Given the description of an element on the screen output the (x, y) to click on. 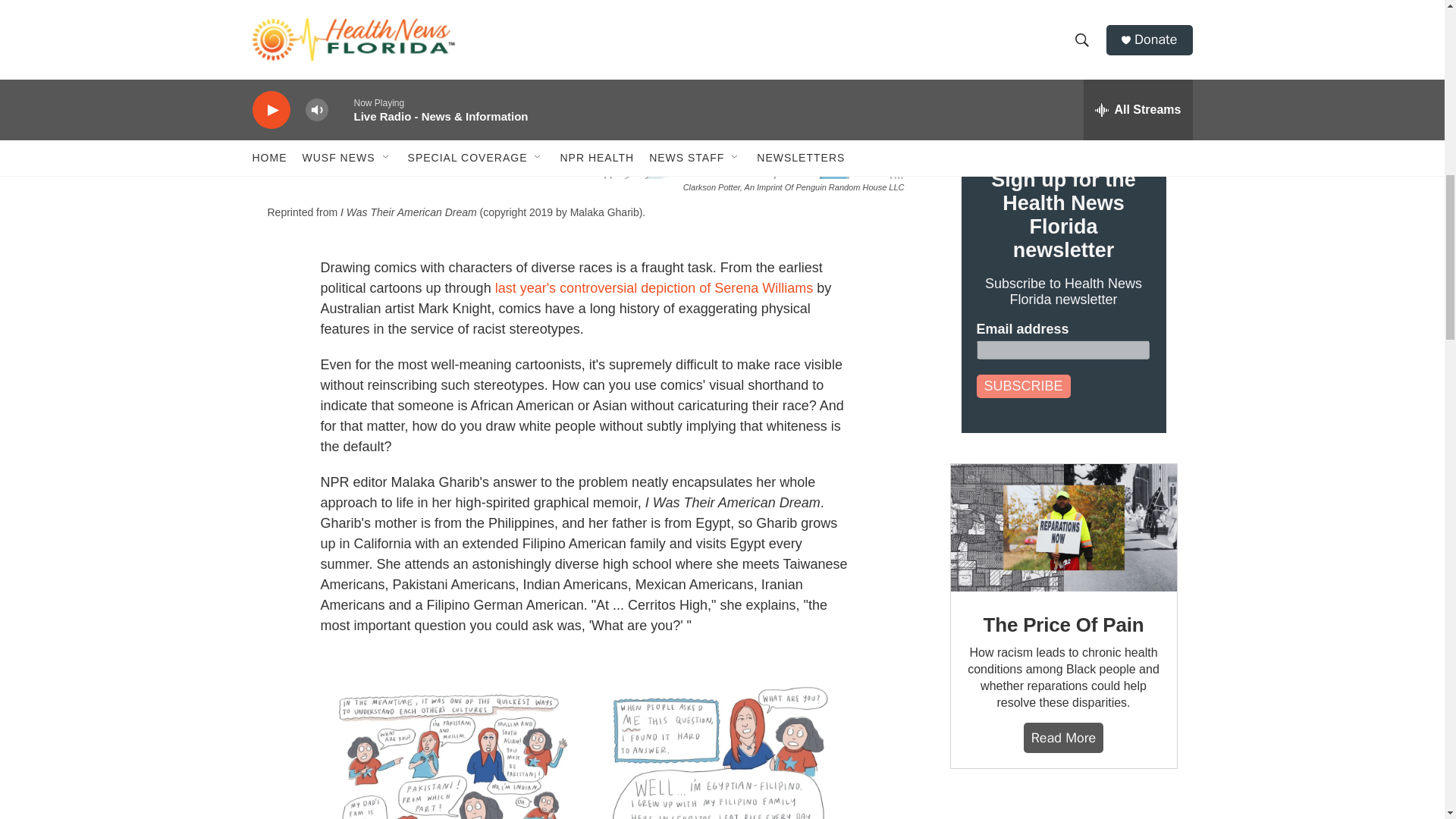
3rd party ad content (1062, 809)
